Given the description of an element on the screen output the (x, y) to click on. 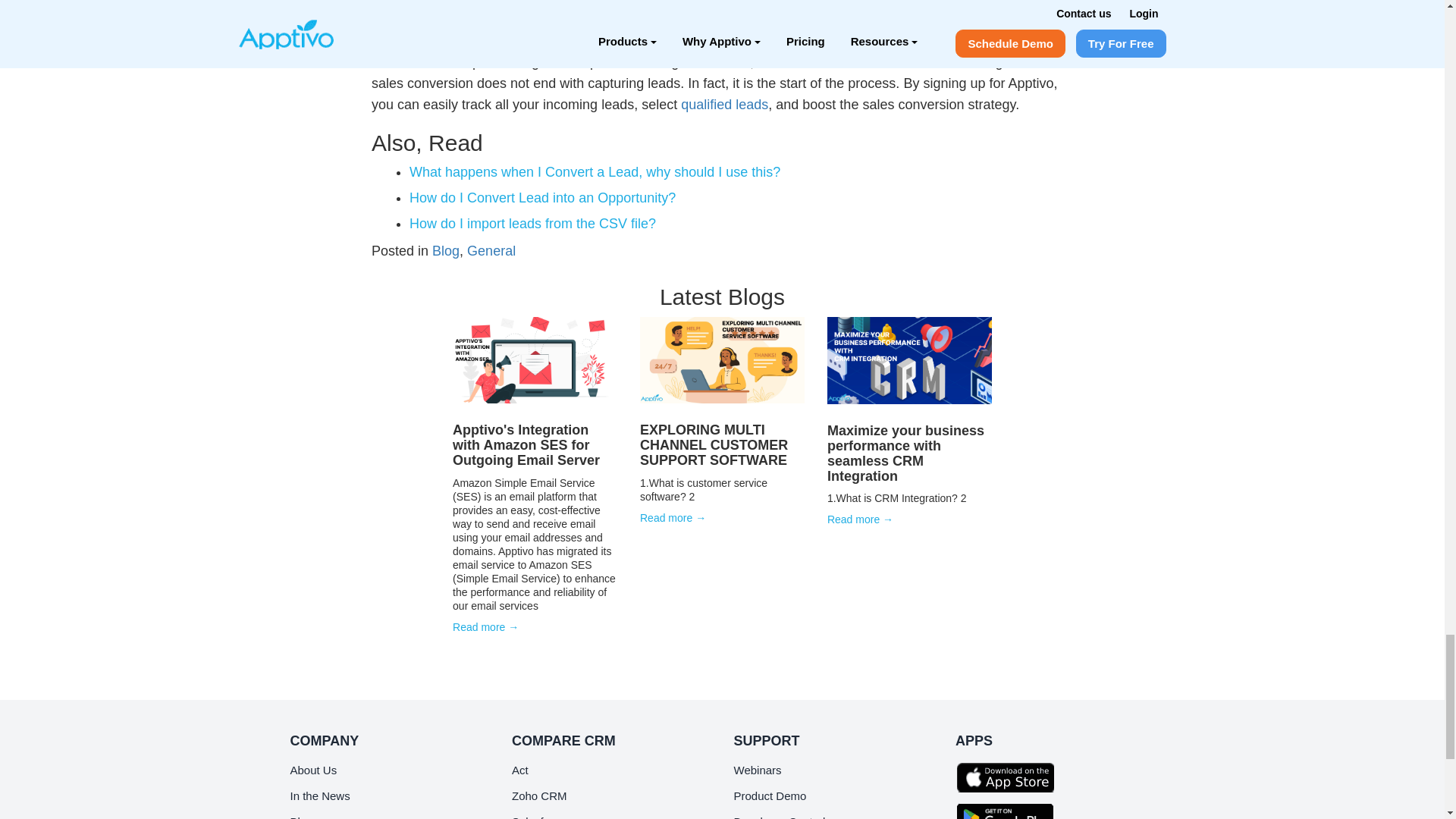
GET IT ON Google Play (1009, 808)
In the News (319, 796)
Download on the AppStore (1009, 777)
